Given the description of an element on the screen output the (x, y) to click on. 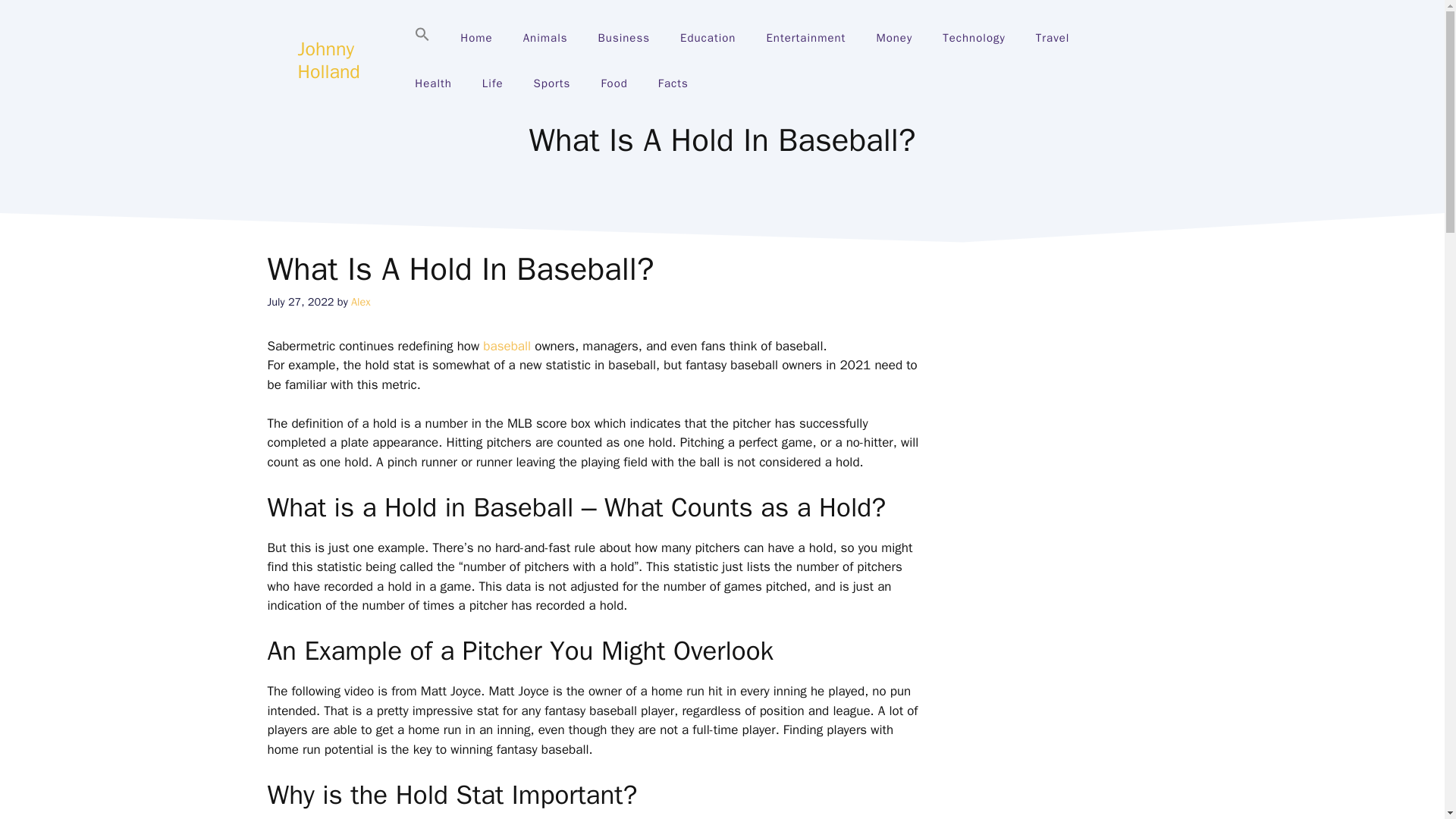
Business (624, 37)
Health (432, 83)
Home (475, 37)
Life (492, 83)
Food (613, 83)
Alex (360, 301)
Sports (552, 83)
baseball (507, 345)
Money (893, 37)
Facts (673, 83)
Johnny Holland (328, 59)
Education (708, 37)
Travel (1052, 37)
Animals (545, 37)
Entertainment (805, 37)
